Given the description of an element on the screen output the (x, y) to click on. 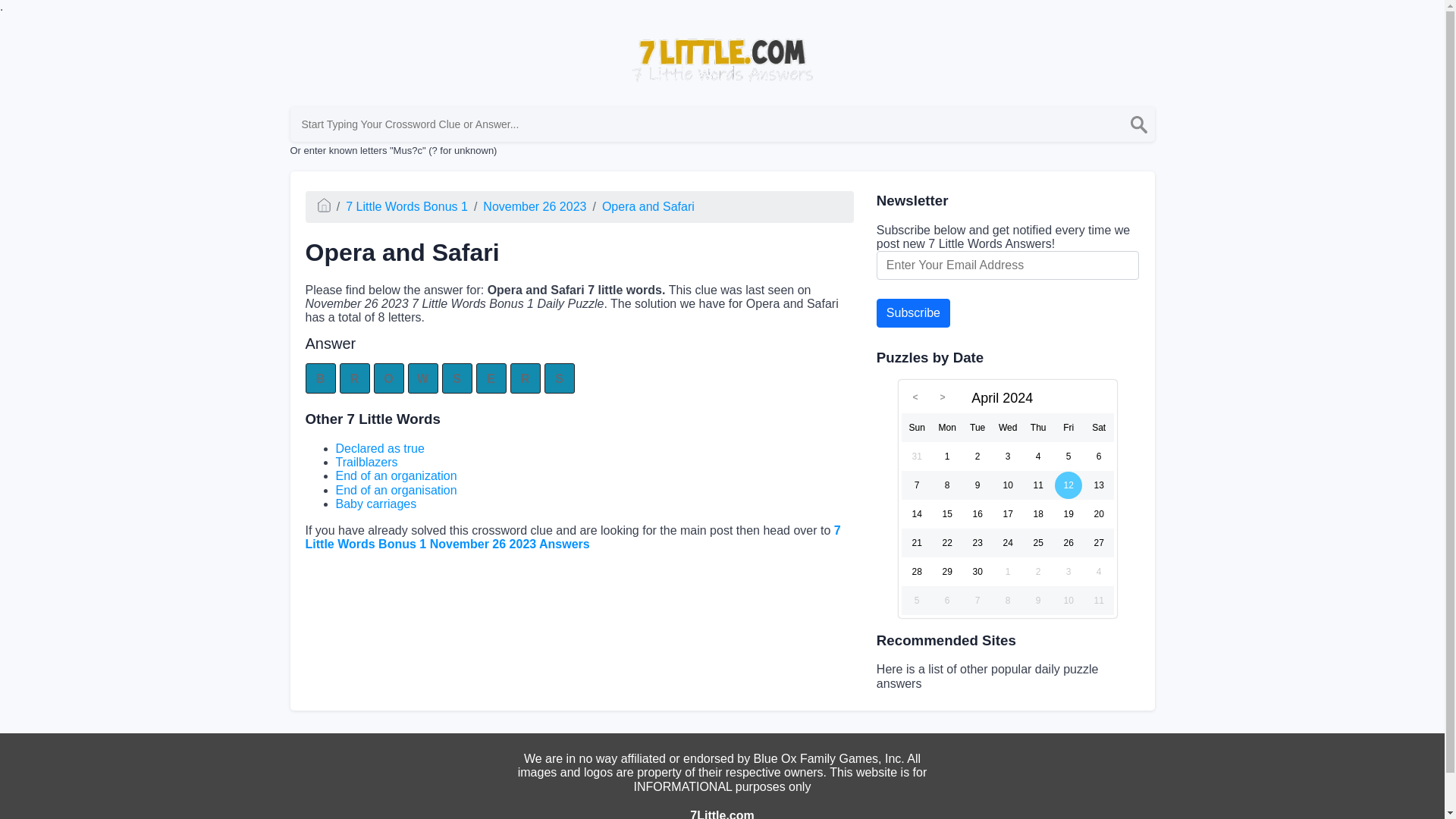
Declared as true (378, 448)
7 Little Words Bonus 1 November 26 2023 Answers (572, 536)
7Little.com (722, 814)
Subscribe (913, 312)
7 Little Words Bonus 1 (406, 205)
End of an organisation (395, 490)
Trailblazers (365, 461)
November 26 2023 (534, 205)
End of an organization (395, 475)
Subscribe (913, 312)
